Given the description of an element on the screen output the (x, y) to click on. 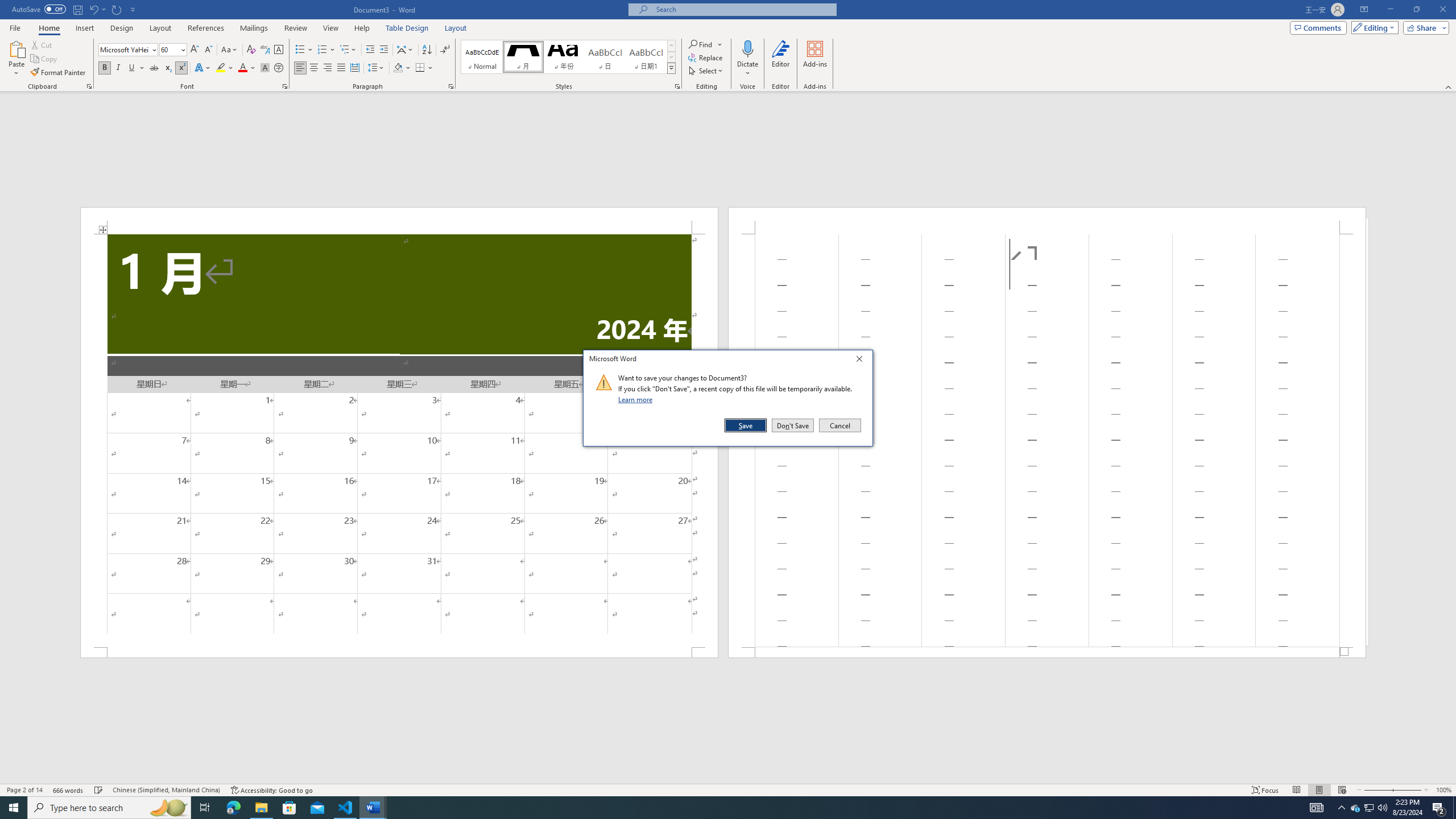
Shading RGB(0, 0, 0) (397, 67)
Table Design (407, 28)
Show/Hide Editing Marks (444, 49)
Text Effects and Typography (202, 67)
Spelling and Grammar Check Checking (98, 790)
Notification Chevron (1341, 807)
Grow Font (193, 49)
Start (13, 807)
Multilevel List (347, 49)
Shrink Font (208, 49)
